Given the description of an element on the screen output the (x, y) to click on. 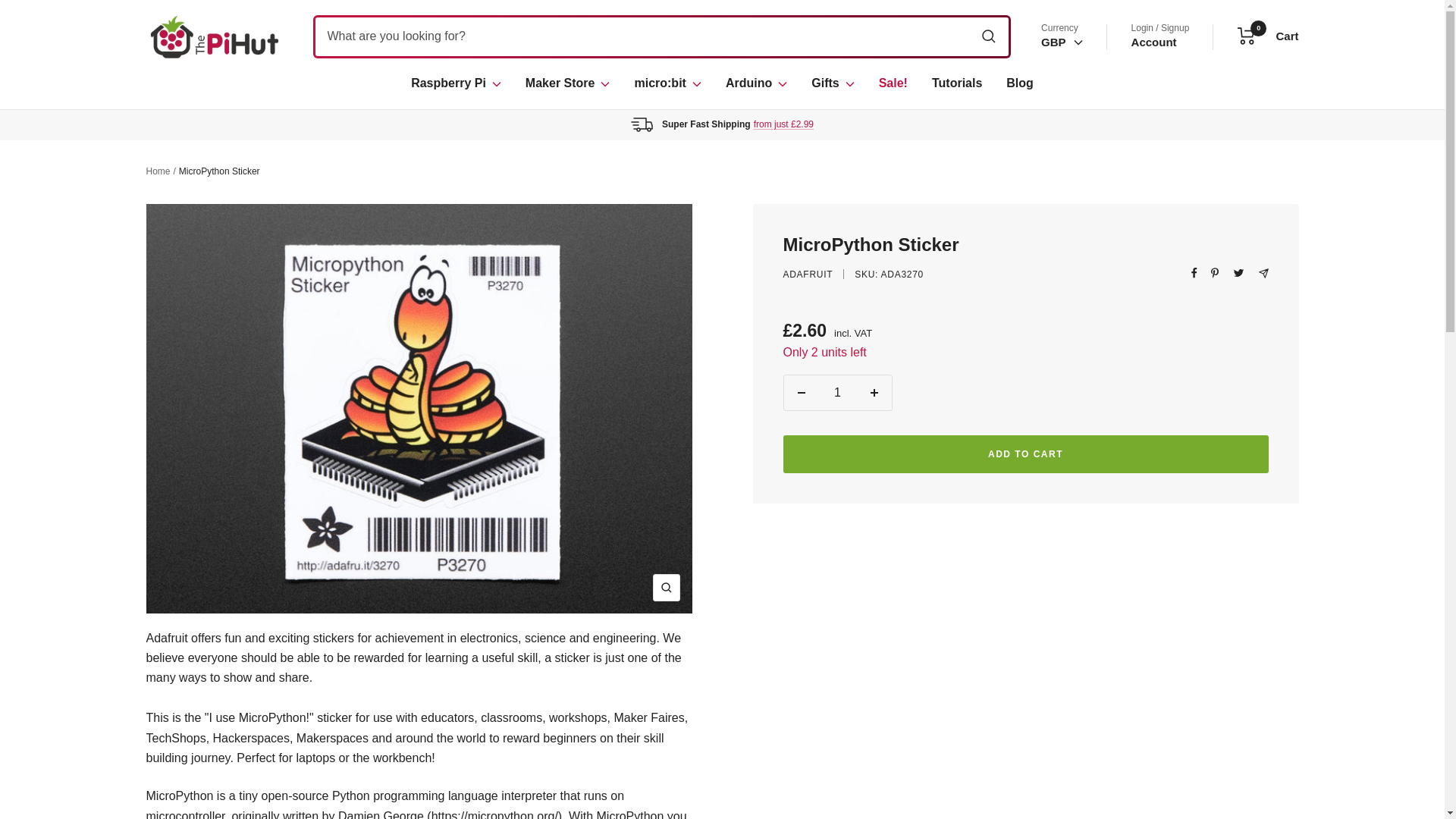
Delivery (783, 123)
Sale! (893, 83)
USD (1058, 116)
Account (1153, 42)
Tutorials (956, 83)
CAD (1058, 139)
1 (837, 392)
GBP (1062, 42)
GBP (1058, 93)
Arduino (756, 83)
